Given the description of an element on the screen output the (x, y) to click on. 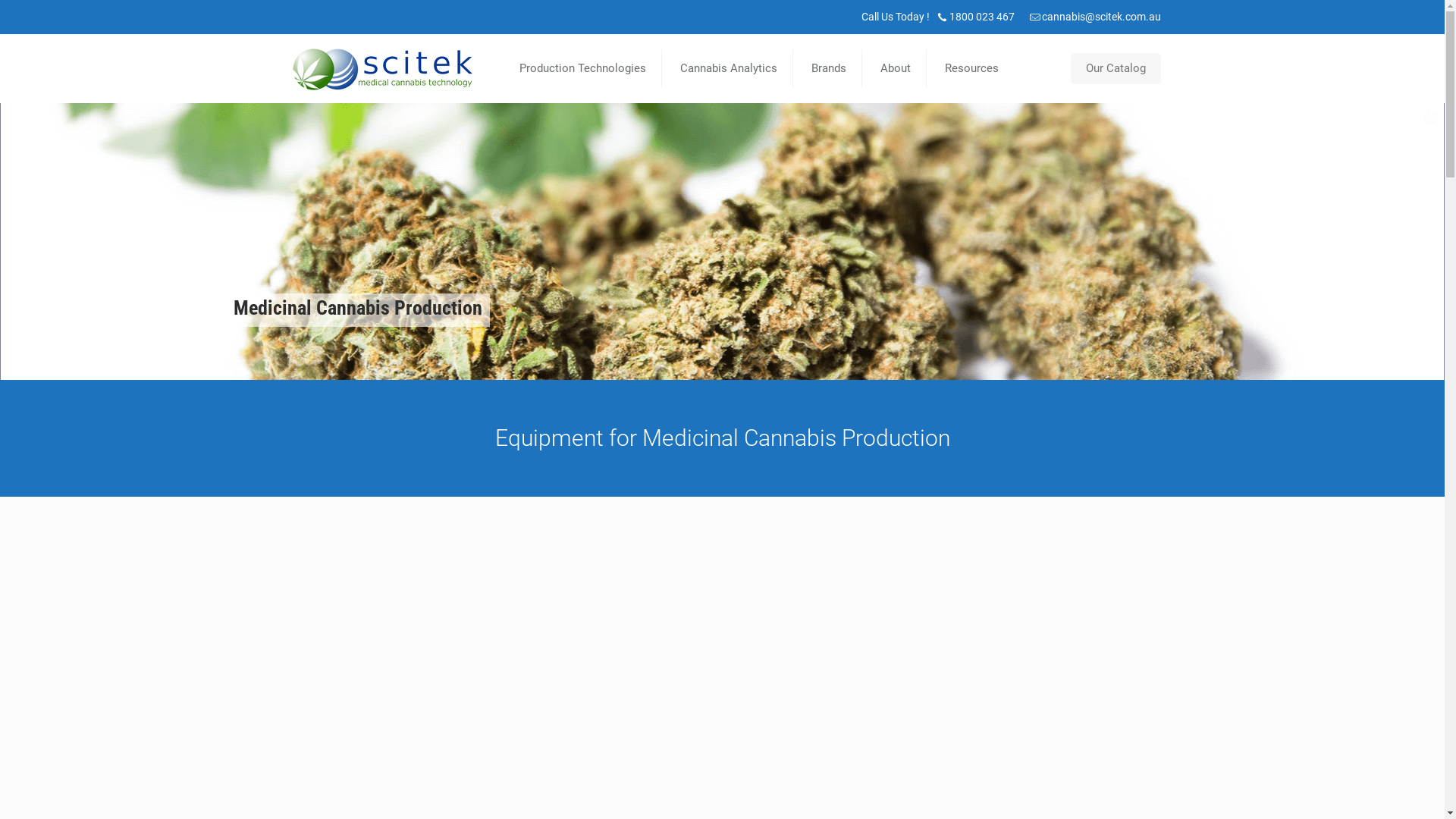
Medicinal Cannabis Production Element type: hover (381, 68)
Production Technologies Element type: text (582, 68)
1800 023 467 Element type: text (981, 16)
cannabis@scitek.com.au Element type: text (1101, 16)
Resources Element type: text (971, 68)
Our Catalog Element type: text (1115, 68)
Cannabis Analytics Element type: text (728, 68)
About Element type: text (894, 68)
Brands Element type: text (829, 68)
